Given the description of an element on the screen output the (x, y) to click on. 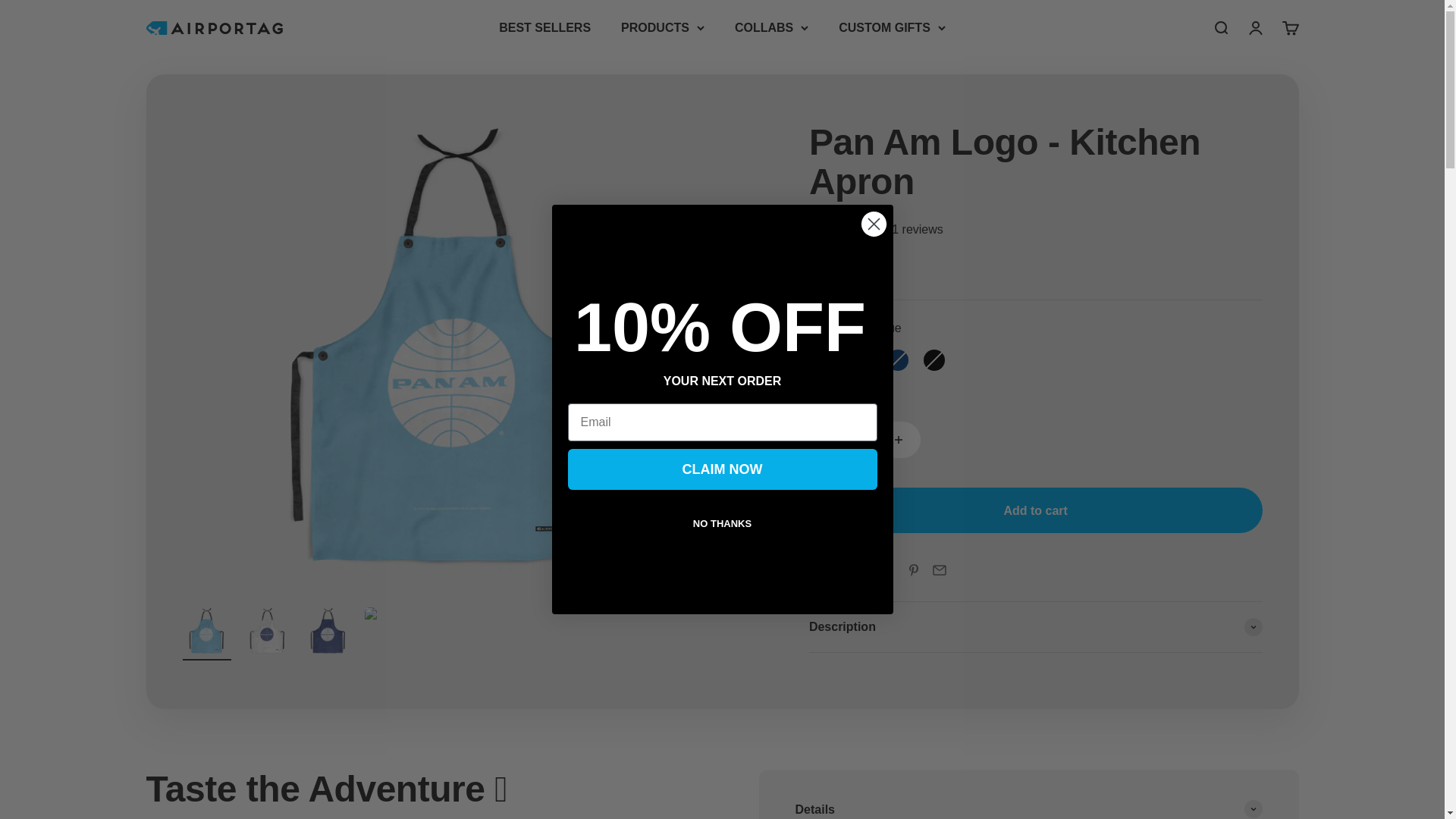
Black (1035, 359)
Dark Blue (545, 27)
